Given the description of an element on the screen output the (x, y) to click on. 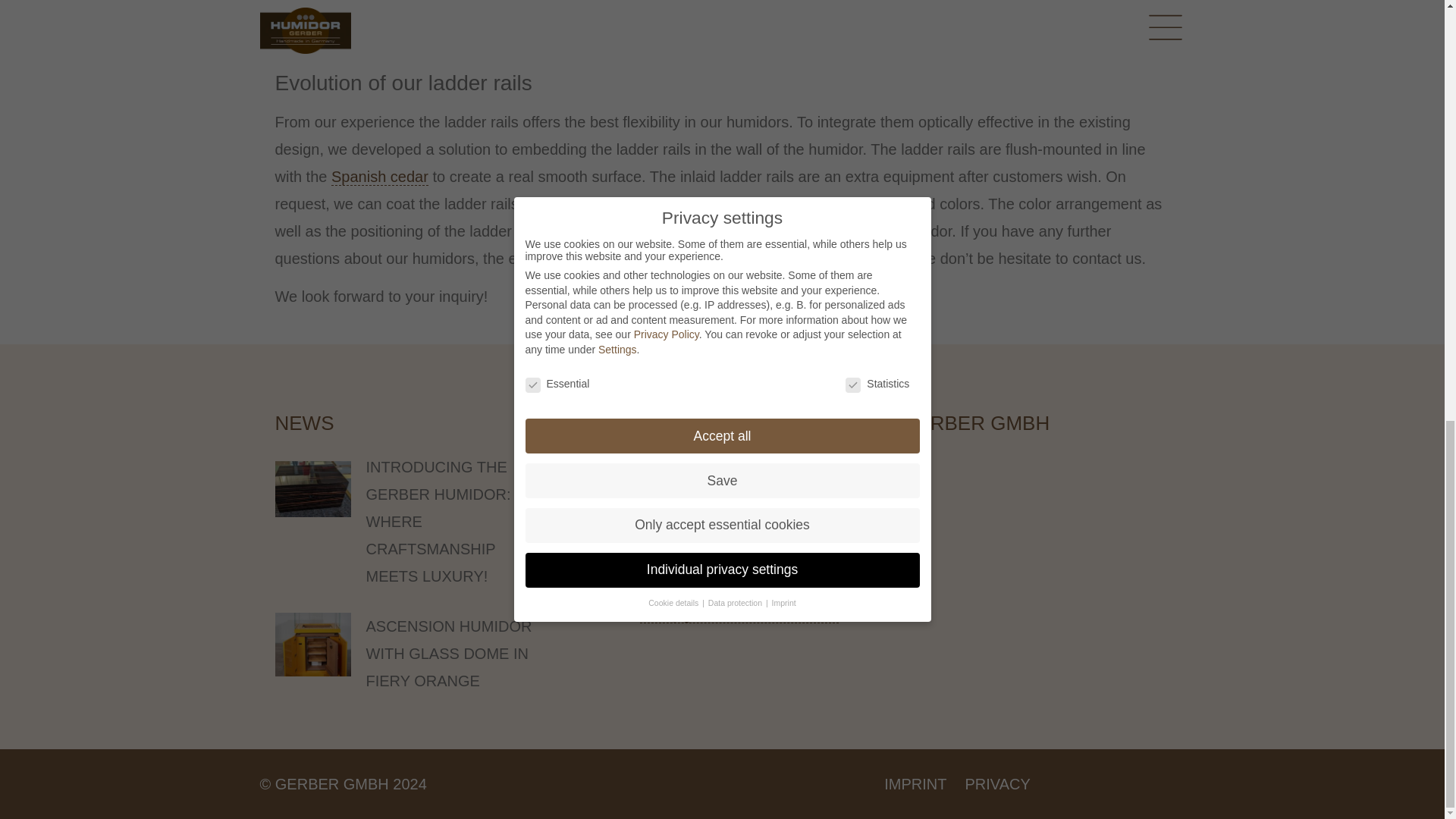
ASCENSION HUMIDOR WITH GLASS DOME IN FIERY ORANGE (448, 653)
Spanish cedar (379, 176)
